Given the description of an element on the screen output the (x, y) to click on. 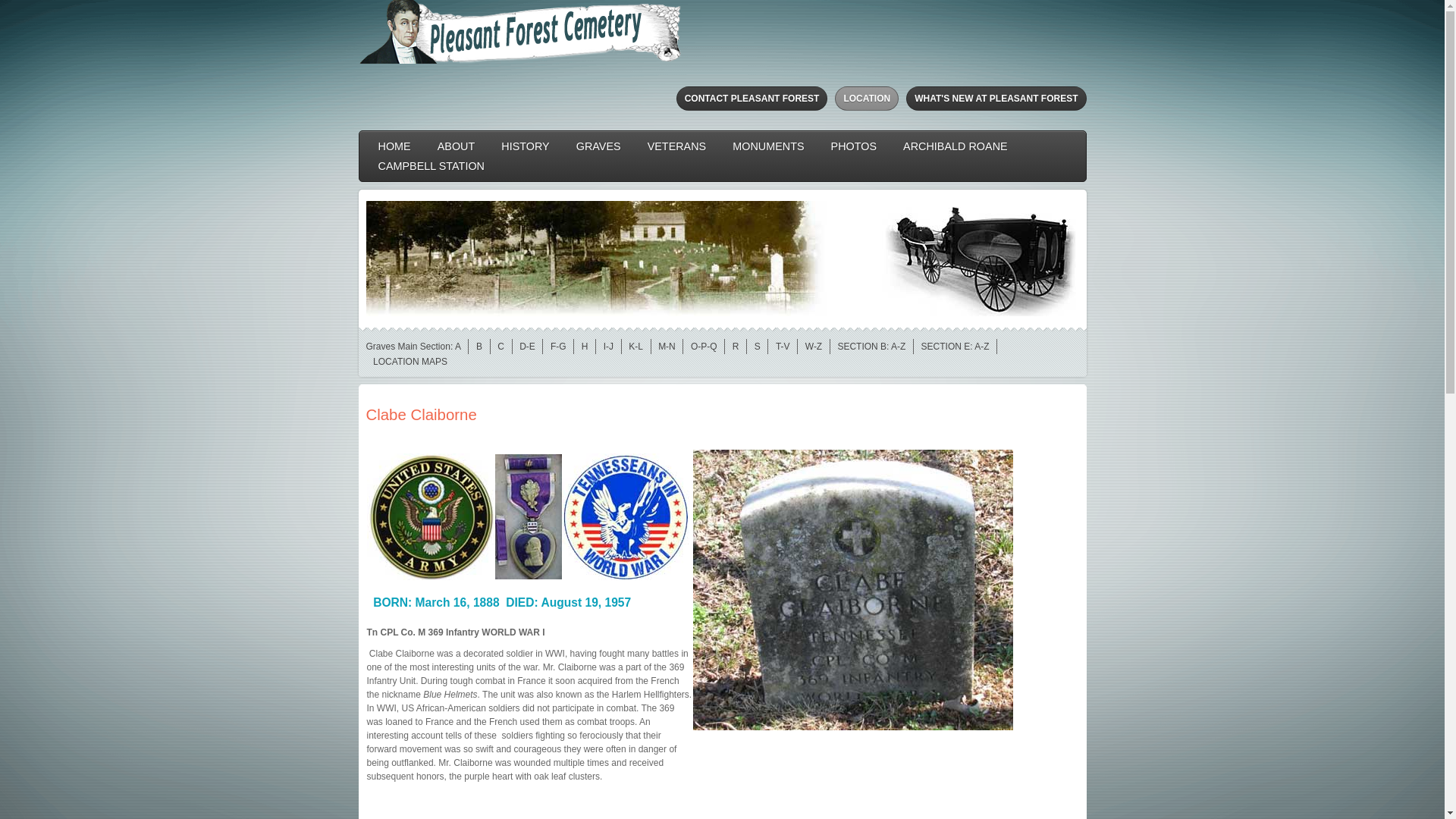
PHOTOS (853, 146)
I-J (608, 346)
F-G (558, 346)
HISTORY (524, 146)
GRAVES (597, 146)
W-Z (813, 346)
ABOUT (456, 146)
SECTION B: A-Z (871, 346)
SECTION E: A-Z (955, 346)
D-E (527, 346)
WHAT'S NEW AT PLEASANT FOREST (995, 98)
M-N (666, 346)
T-V (783, 346)
CONTACT PLEASANT FOREST (752, 98)
K-L (635, 346)
